Given the description of an element on the screen output the (x, y) to click on. 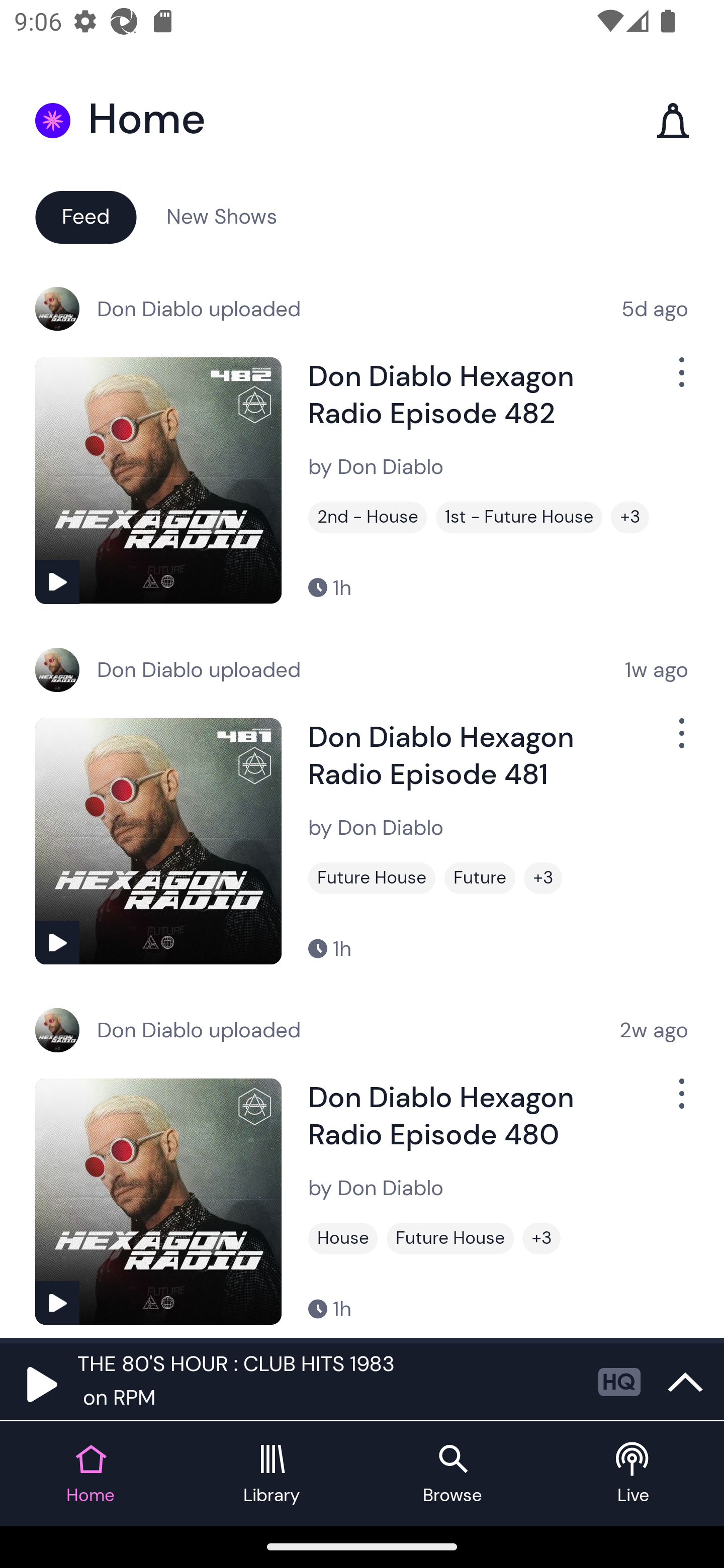
Feed (85, 216)
New Shows (221, 216)
Show Options Menu Button (679, 379)
2nd - House (367, 517)
1st - Future House (518, 517)
Show Options Menu Button (679, 740)
Future House (371, 877)
Future (479, 877)
Show Options Menu Button (679, 1101)
House (342, 1238)
Future House (450, 1238)
Home tab Home (90, 1473)
Library tab Library (271, 1473)
Browse tab Browse (452, 1473)
Live tab Live (633, 1473)
